Given the description of an element on the screen output the (x, y) to click on. 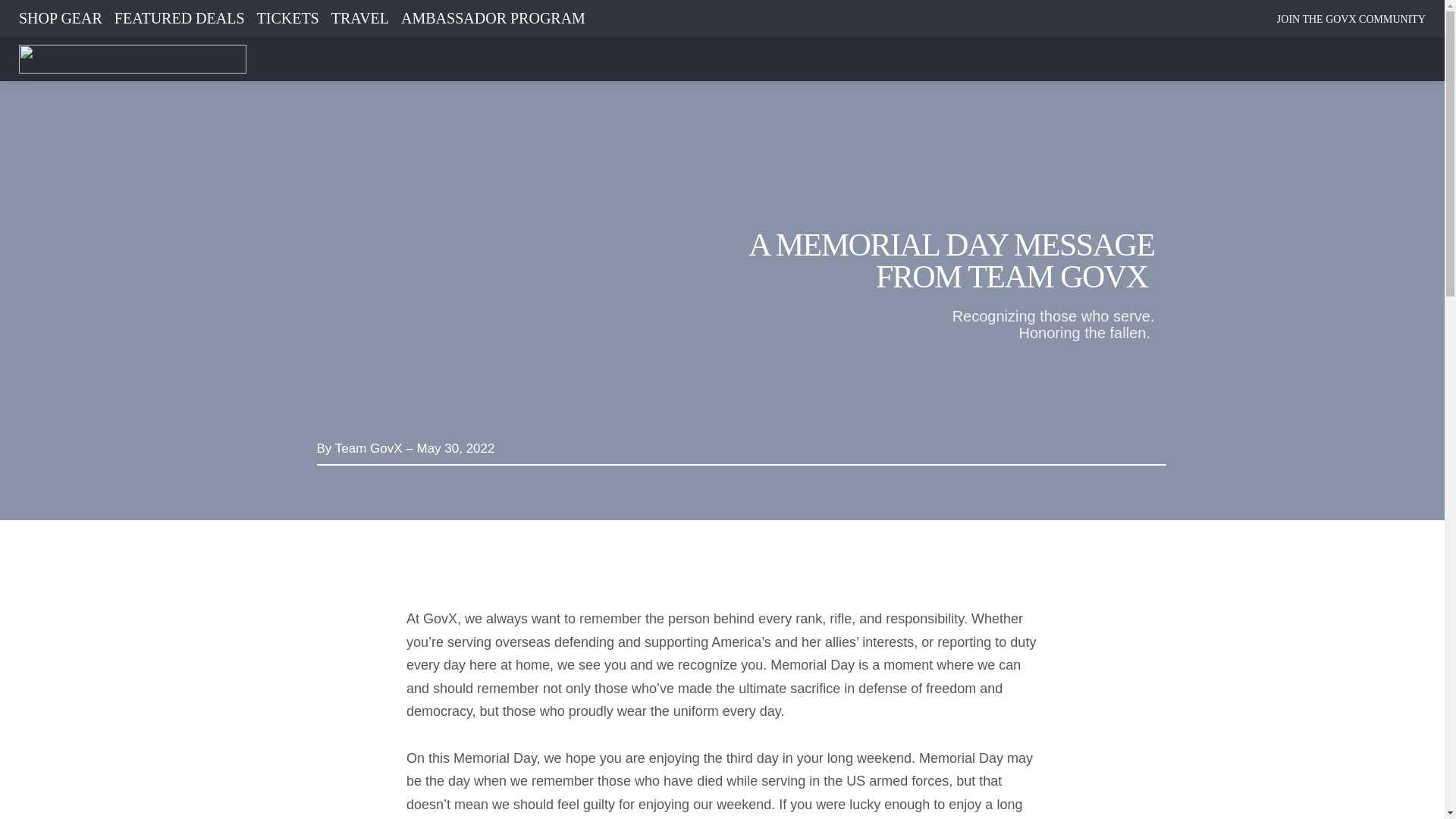
AMBASSADOR PROGRAM (493, 17)
TRAVEL (359, 17)
JOIN THE GOVX COMMUNITY (1350, 18)
SHOP GEAR (59, 17)
FEATURED DEALS (179, 17)
TICKETS (287, 17)
